Given the description of an element on the screen output the (x, y) to click on. 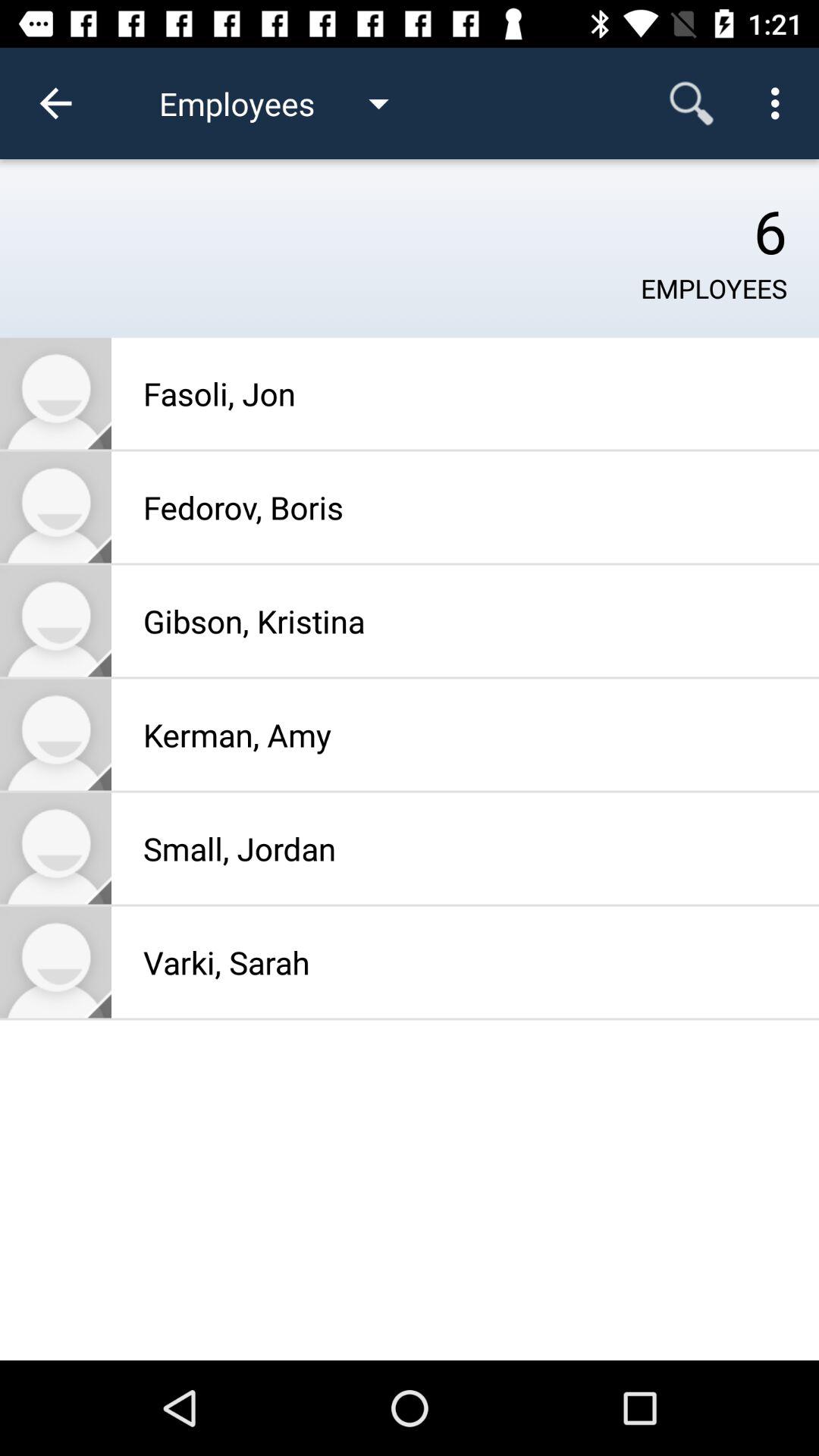
call jon fasoli (55, 393)
